Given the description of an element on the screen output the (x, y) to click on. 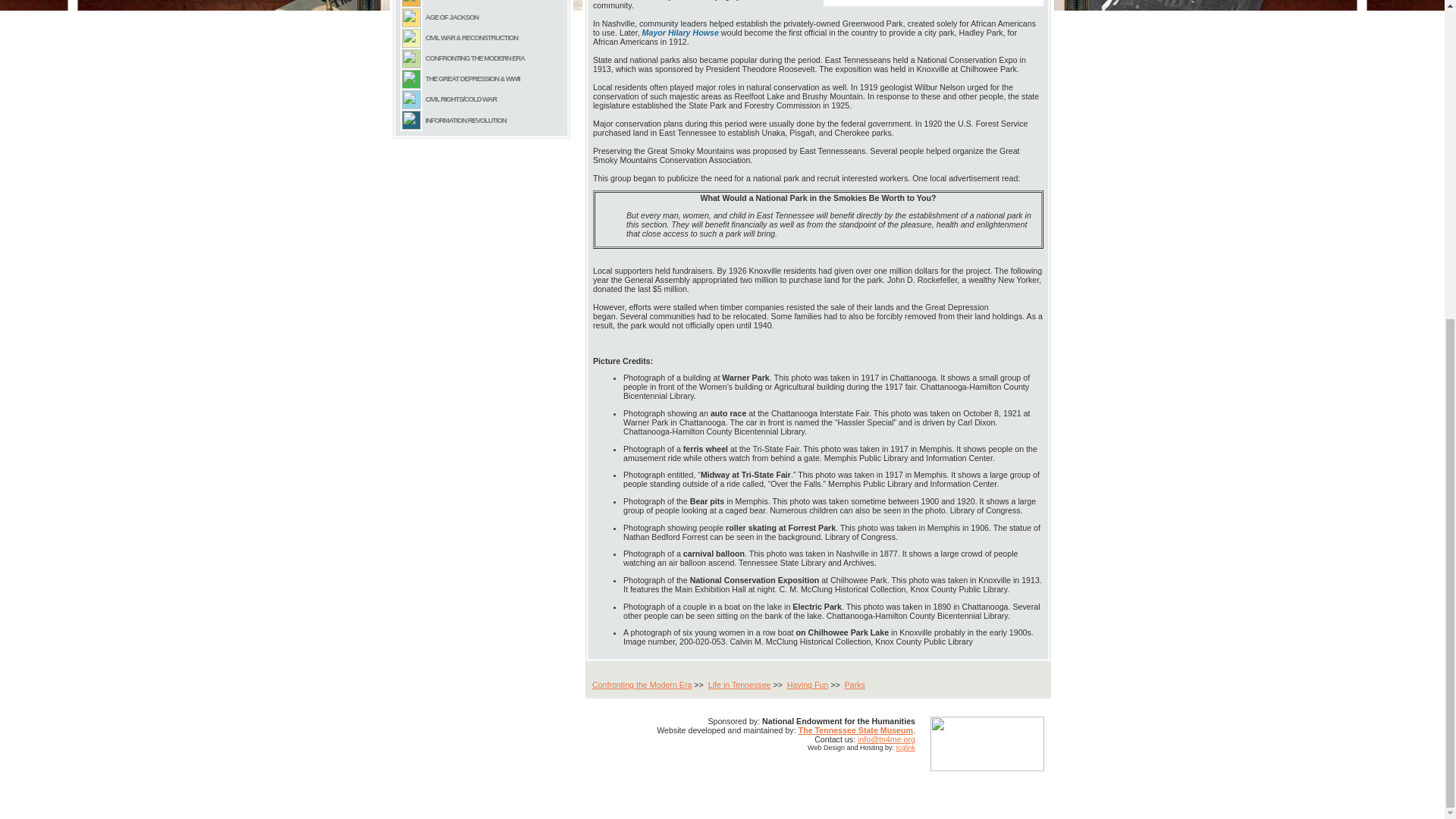
Icglink (905, 747)
Having Fun (807, 684)
AGE OF JACKSON (452, 17)
CONFRONTING THE MODERN ERA (474, 58)
Confronting the Modern Era (642, 684)
Life in Tennessee (739, 684)
Parks (854, 684)
Mayor Hilary Howse (680, 31)
The Tennessee State Museum (854, 729)
INFORMATION REVOLUTION (465, 120)
